Given the description of an element on the screen output the (x, y) to click on. 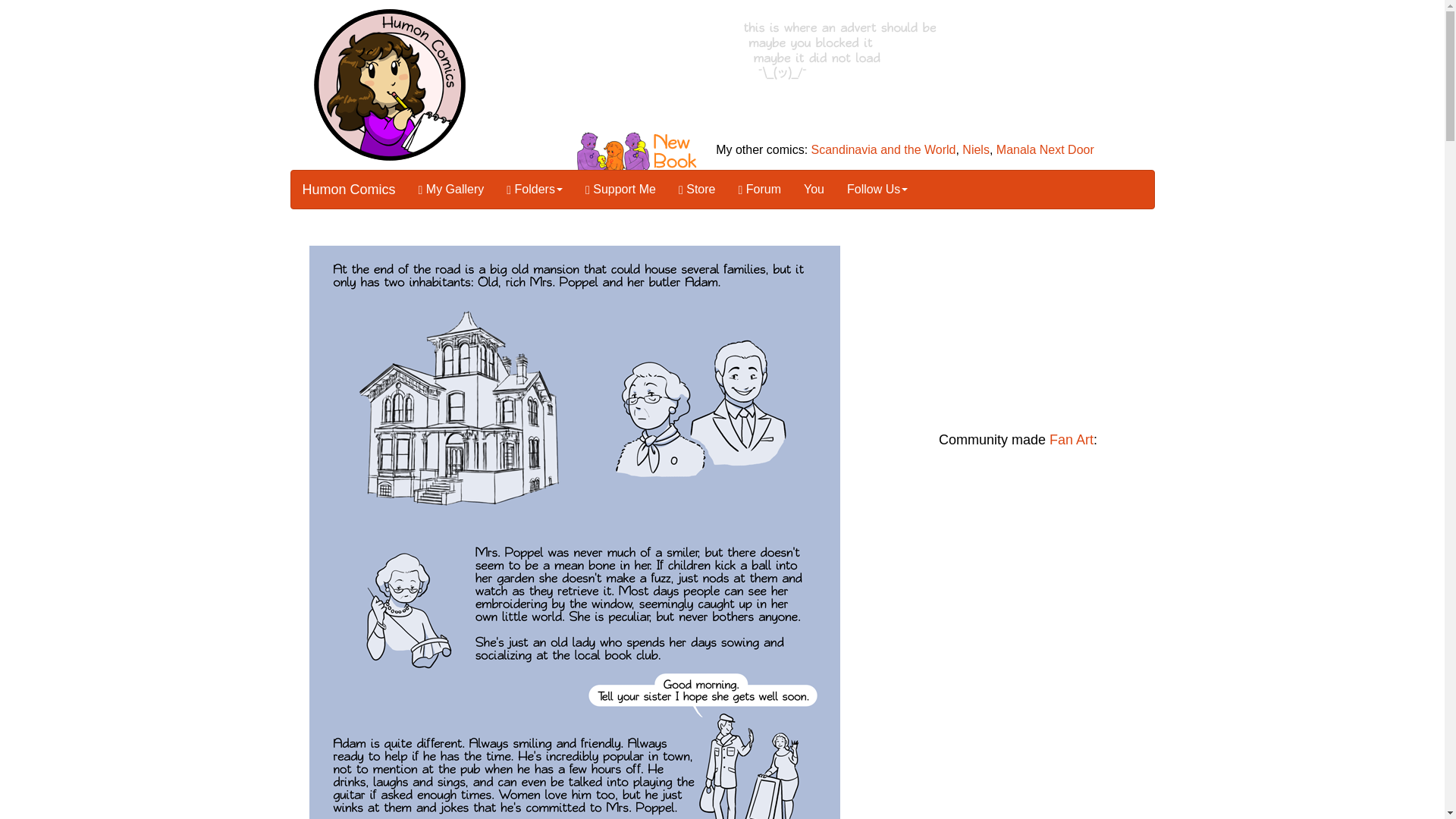
My Gallery (451, 189)
Manala Next Door (1044, 149)
Scandinavia and the World (883, 149)
Forum (759, 189)
Niels (976, 149)
Humon Comics Home (389, 84)
You (813, 189)
Follow Us (876, 189)
Store (696, 189)
New Animal Lives Book (642, 150)
Latest Humon Comics (801, 231)
Humon Comics (349, 189)
Humon Comics from the beginning (346, 231)
Humon Comics Home (389, 83)
